Given the description of an element on the screen output the (x, y) to click on. 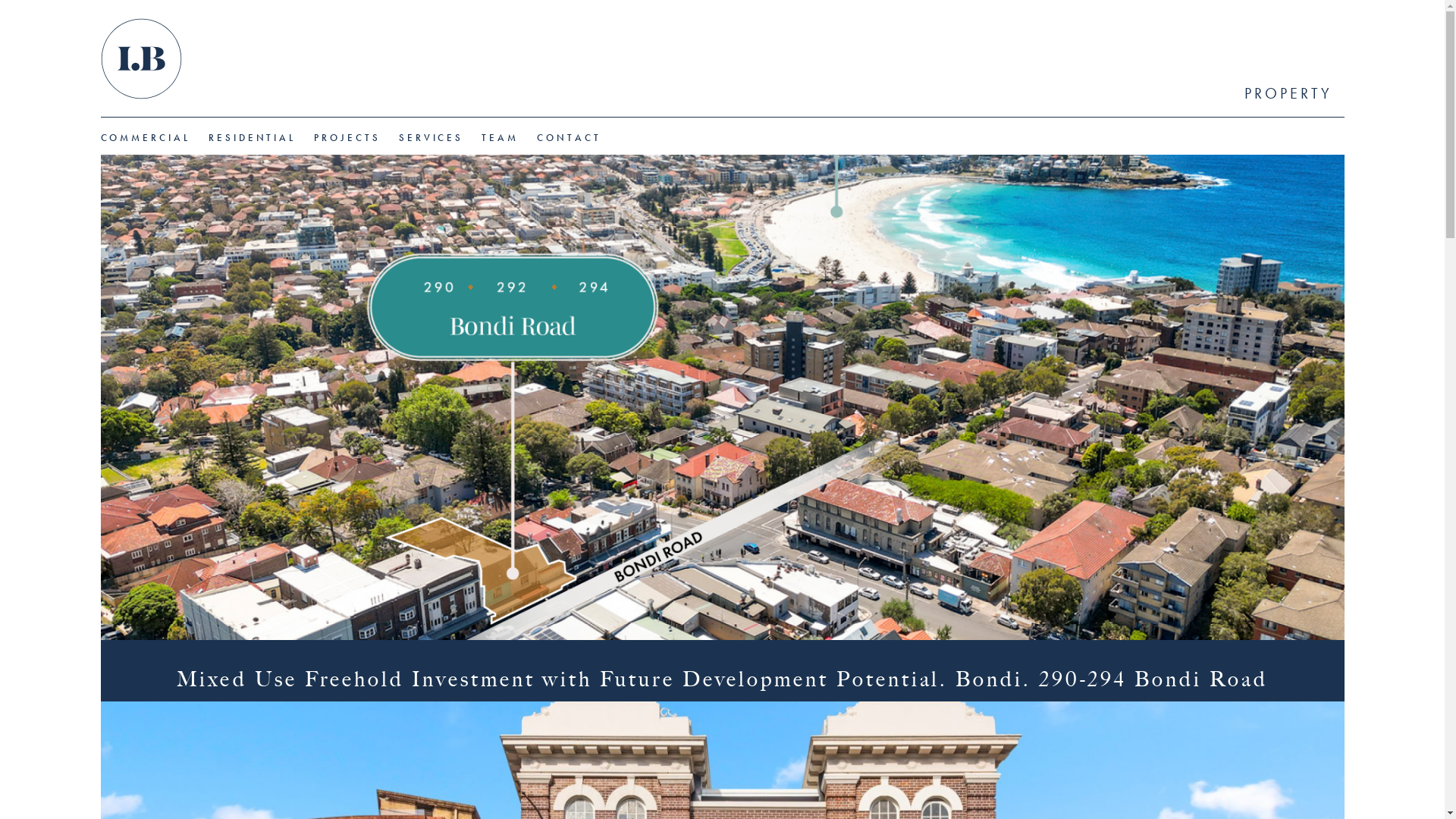
PROJECTS Element type: text (346, 137)
COMMERCIAL Element type: text (144, 137)
IB Property Element type: text (140, 61)
TEAM Element type: text (499, 137)
SERVICES Element type: text (431, 137)
CONTACT Element type: text (568, 137)
RESIDENTIAL Element type: text (251, 137)
